Given the description of an element on the screen output the (x, y) to click on. 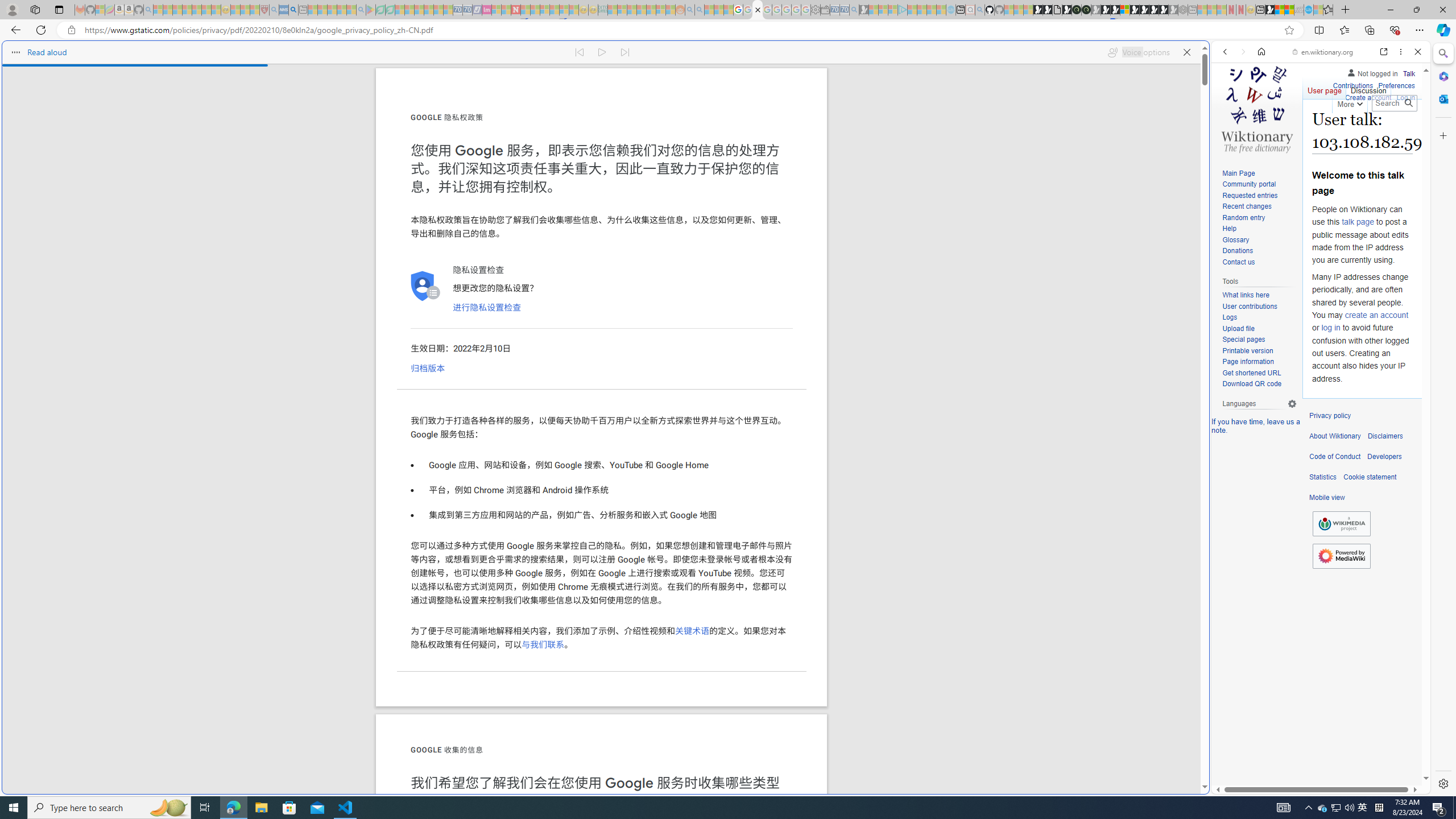
Expert Portfolios - Sleeping (640, 9)
Voice options (1138, 52)
If you have time, leave us a note. (1255, 425)
